Given the description of an element on the screen output the (x, y) to click on. 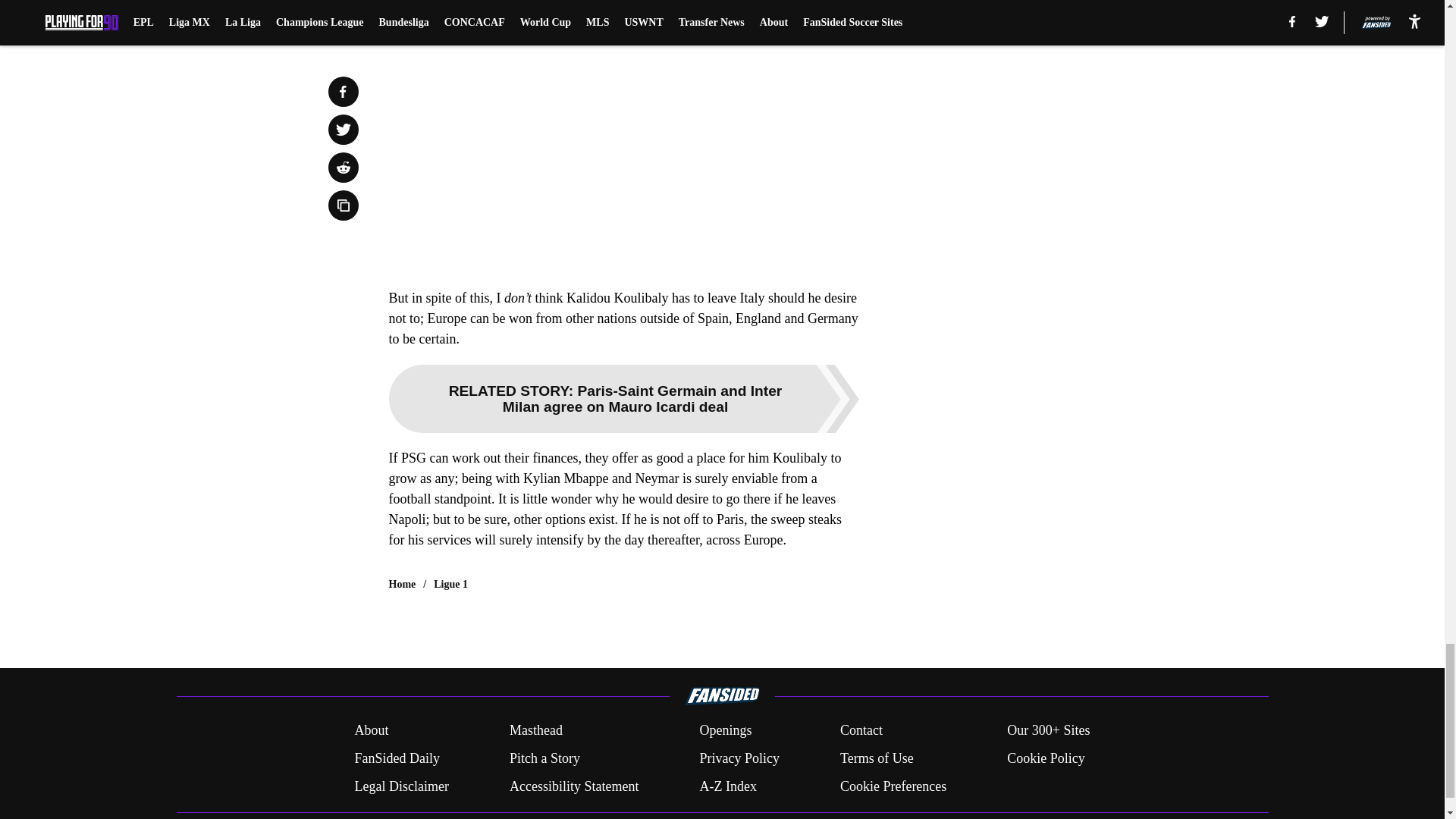
Home (401, 584)
Ligue 1 (450, 584)
